Given the description of an element on the screen output the (x, y) to click on. 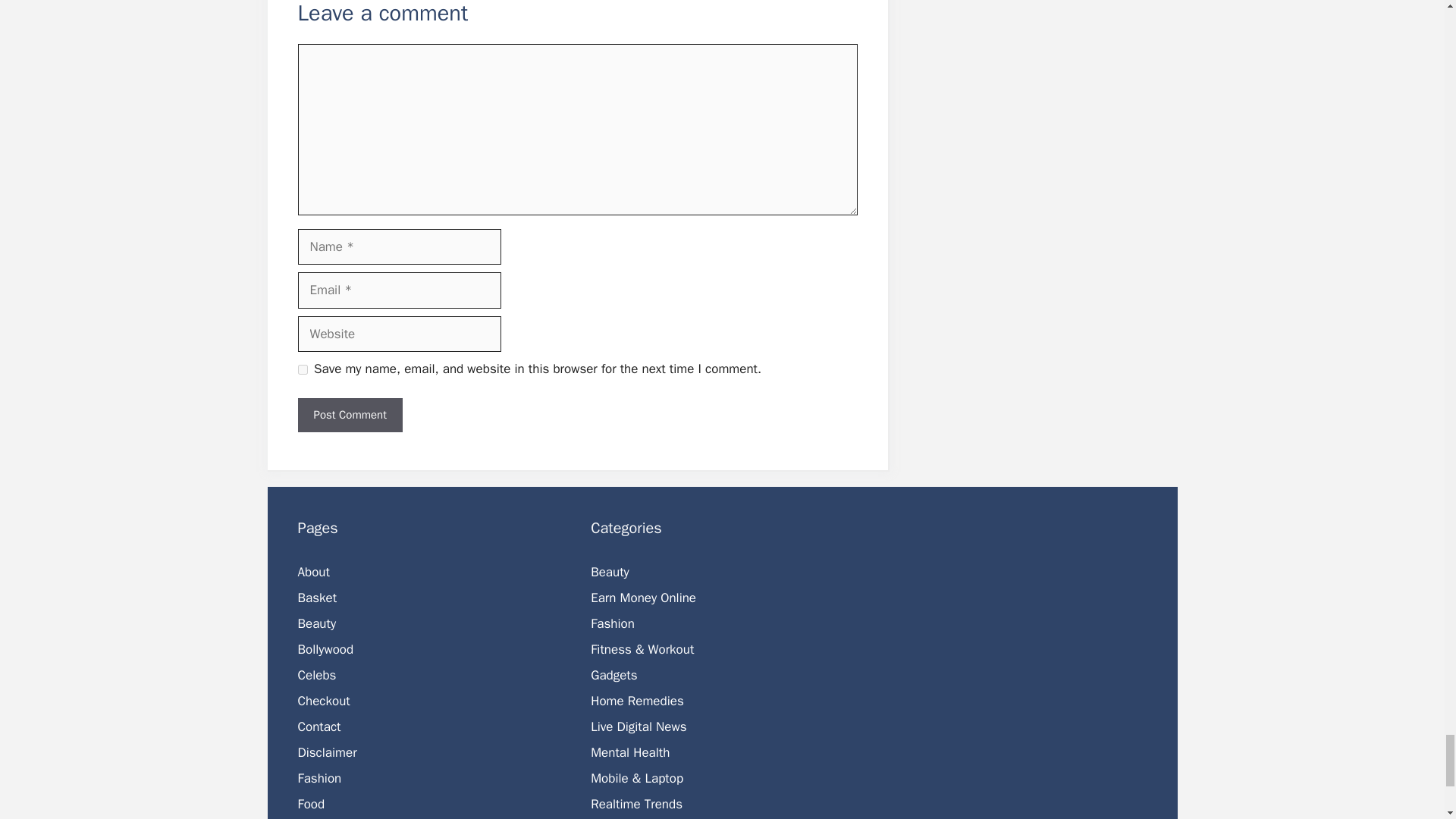
Post Comment (349, 415)
yes (302, 369)
